Given the description of an element on the screen output the (x, y) to click on. 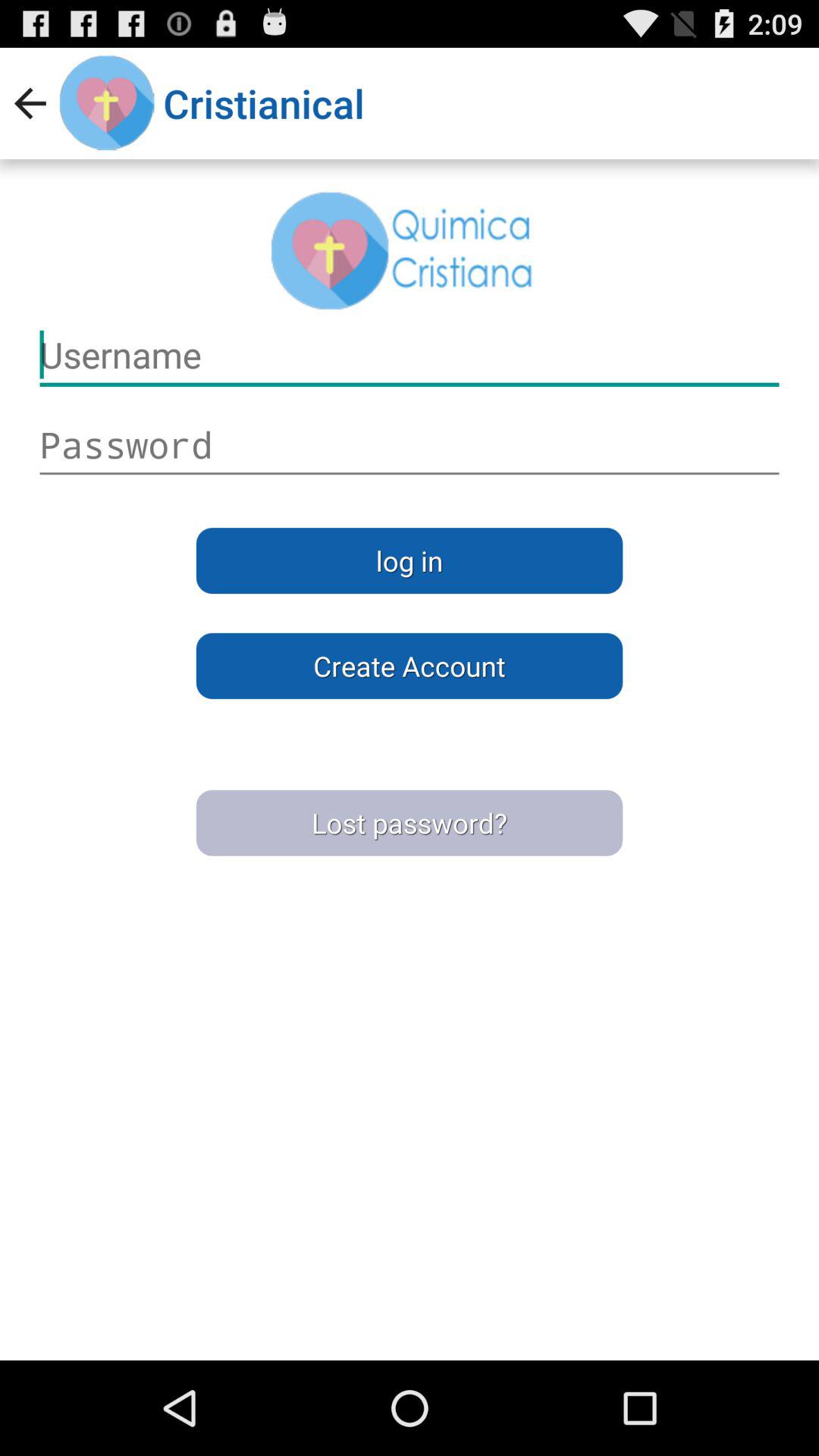
launch the create account item (409, 665)
